Given the description of an element on the screen output the (x, y) to click on. 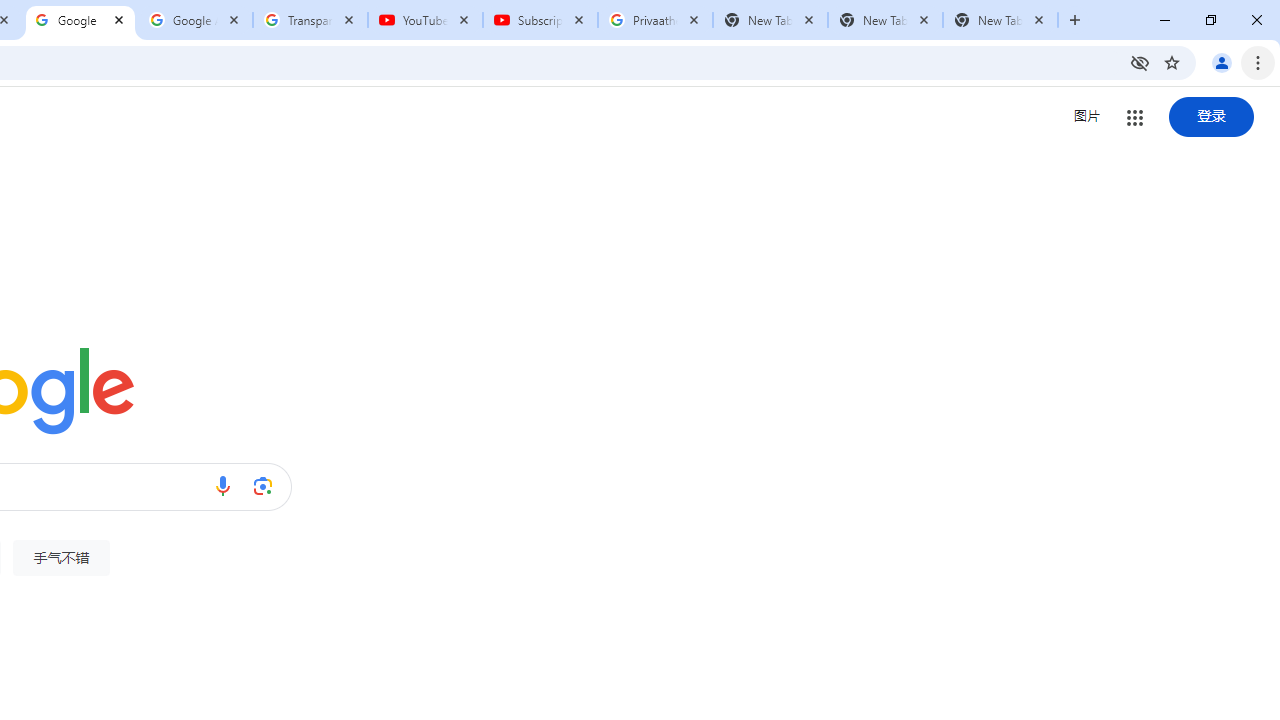
Google Account (195, 20)
YouTube (424, 20)
